Given the description of an element on the screen output the (x, y) to click on. 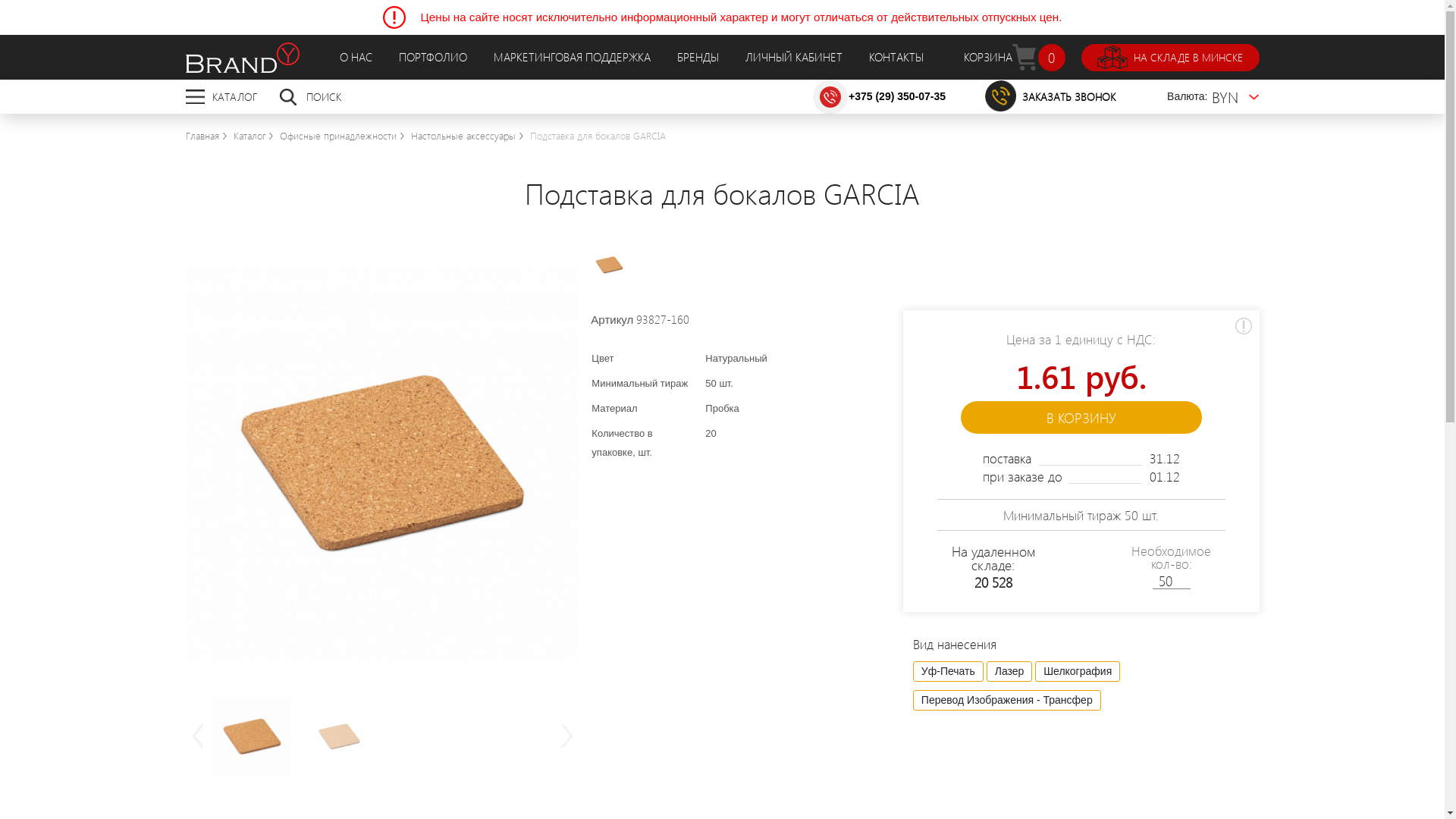
ok Element type: text (1131, 96)
BYN Element type: text (1235, 96)
+375 (29) 350-07-35 Element type: text (896, 96)
